Given the description of an element on the screen output the (x, y) to click on. 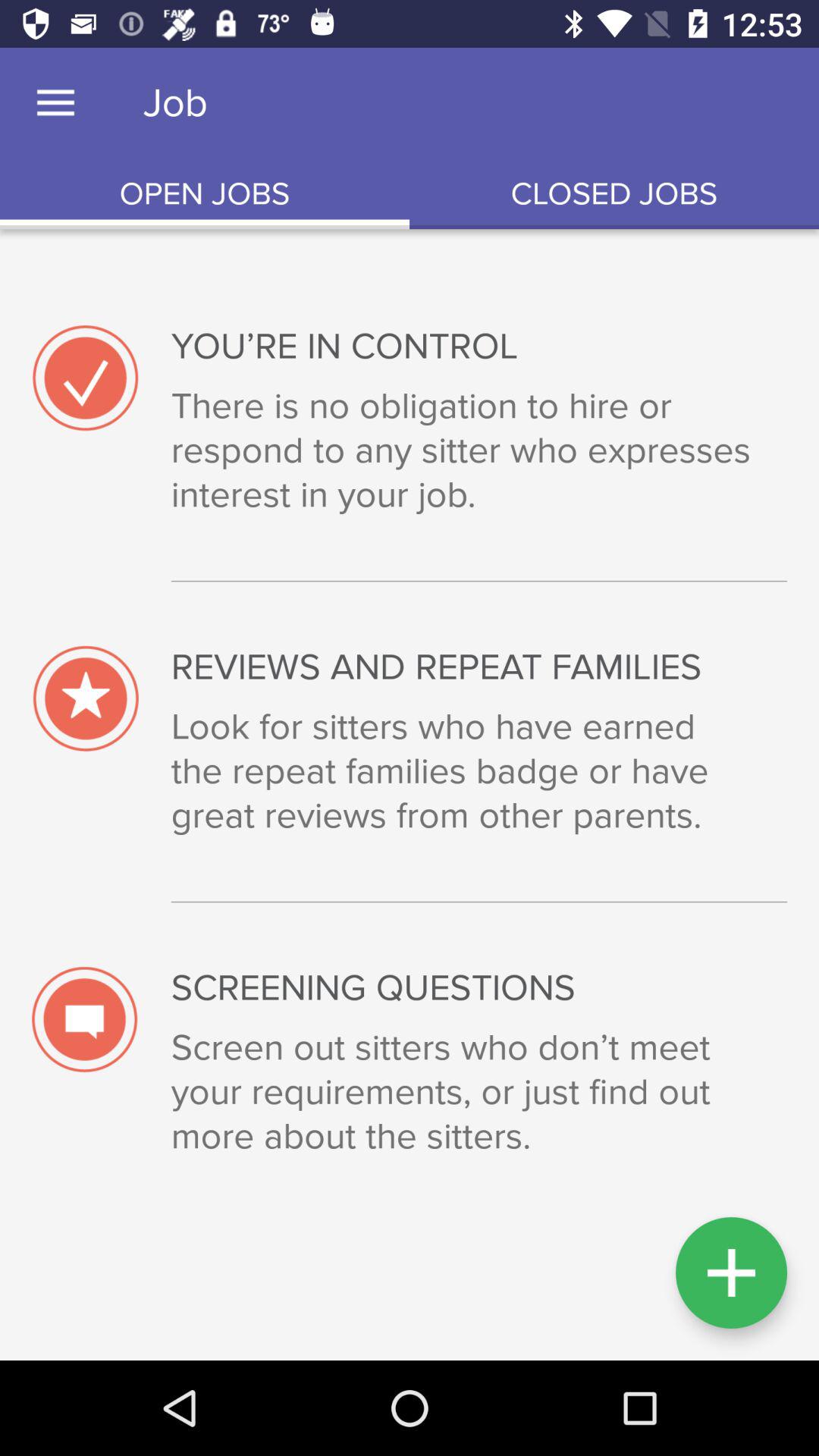
tap closed jobs item (614, 194)
